Given the description of an element on the screen output the (x, y) to click on. 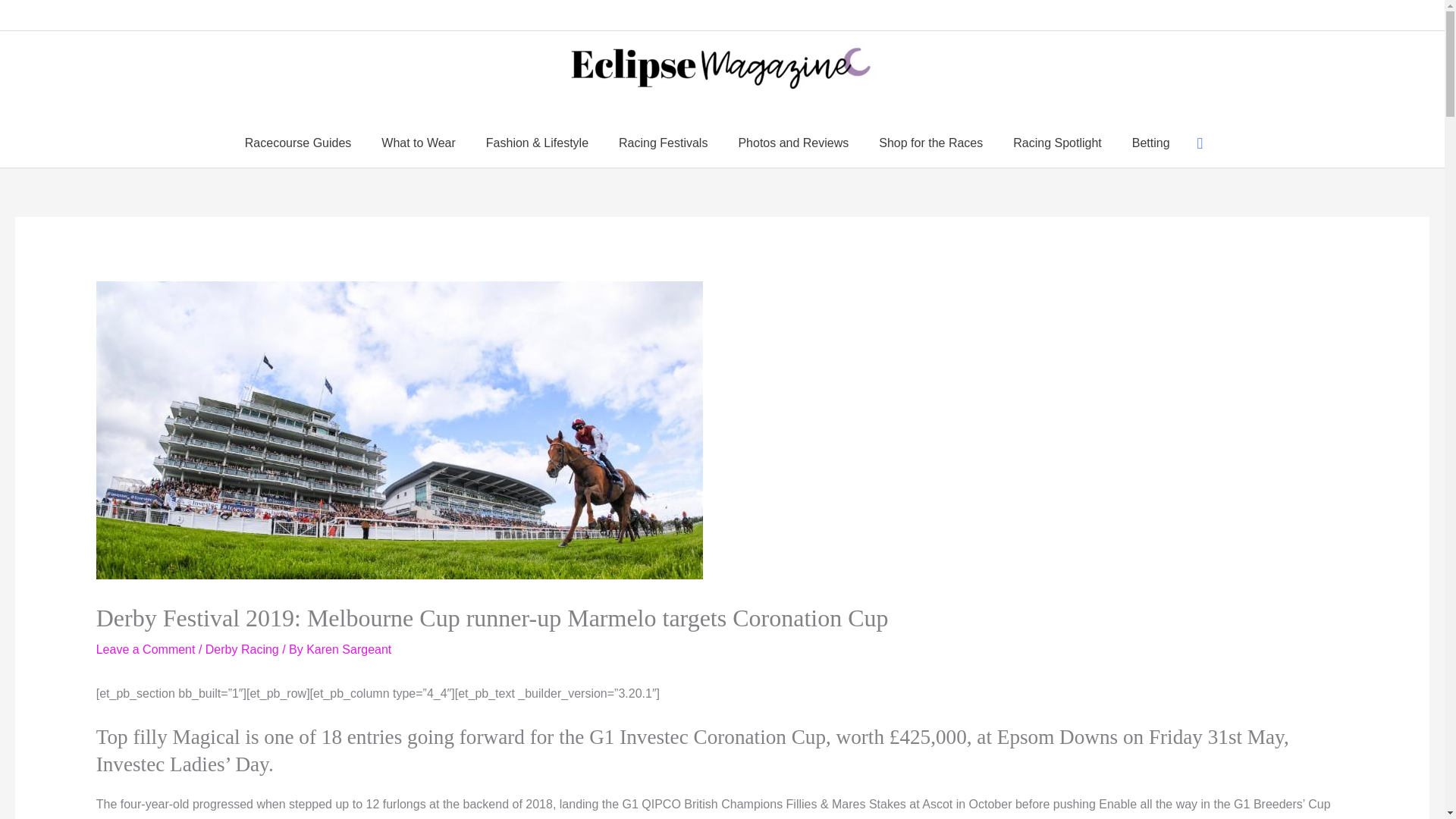
Derby Racing (242, 649)
Karen Sargeant (348, 649)
Photos and Reviews (792, 142)
Shop for the Races (930, 142)
Leave a Comment (145, 649)
Racing Festivals (663, 142)
Racecourse Guides (298, 142)
Betting (1150, 142)
What to Wear (418, 142)
Racing Spotlight (1056, 142)
View all posts by Karen Sargeant (348, 649)
